Given the description of an element on the screen output the (x, y) to click on. 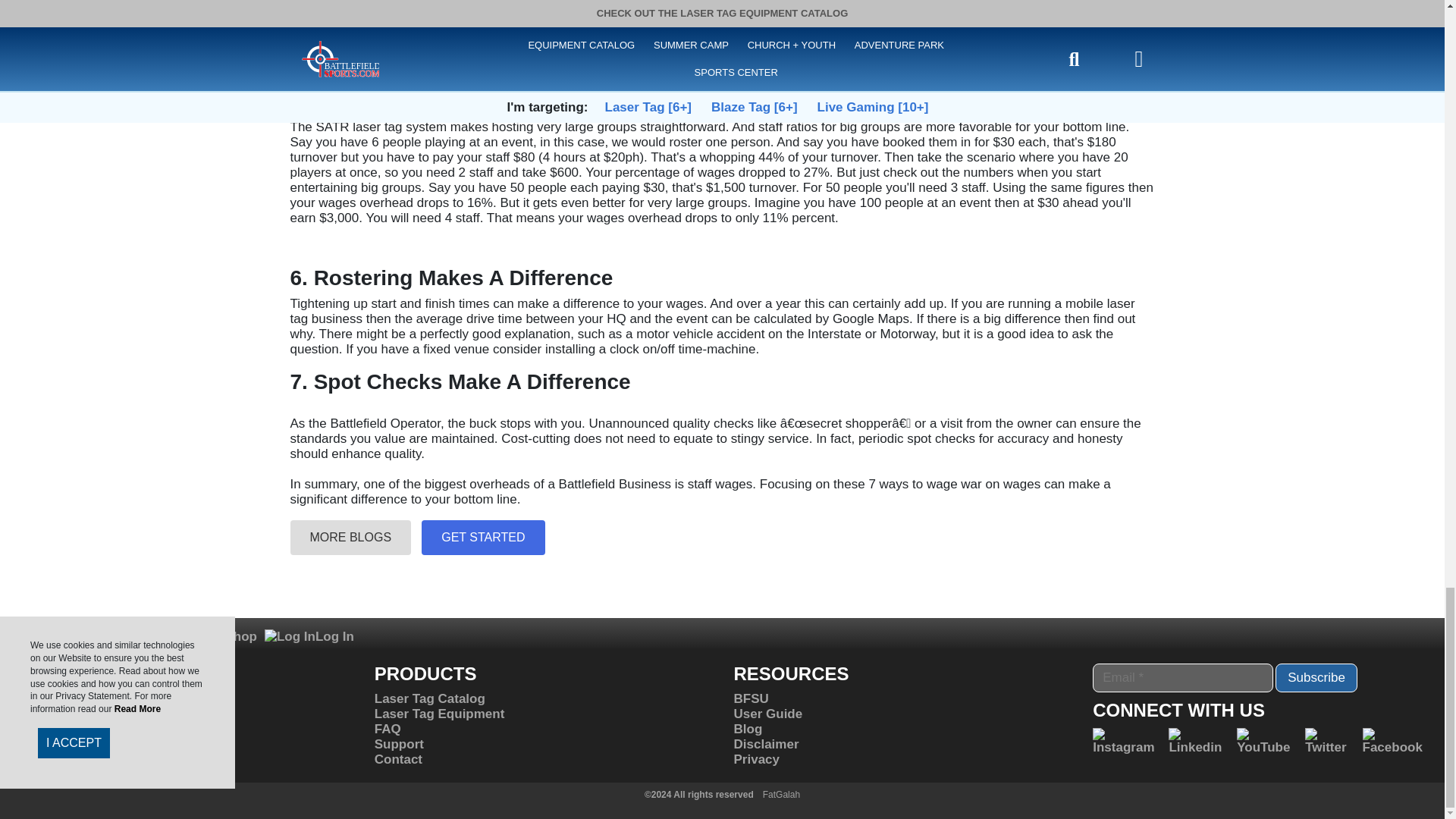
Founders' Welcome (75, 728)
Laser Tag Catalog (429, 698)
Log In (308, 637)
MORE BLOGS (349, 537)
FAQ (387, 728)
Contact (398, 759)
Support (398, 744)
About (33, 698)
BFSU (750, 698)
Newsletter (101, 637)
